Given the description of an element on the screen output the (x, y) to click on. 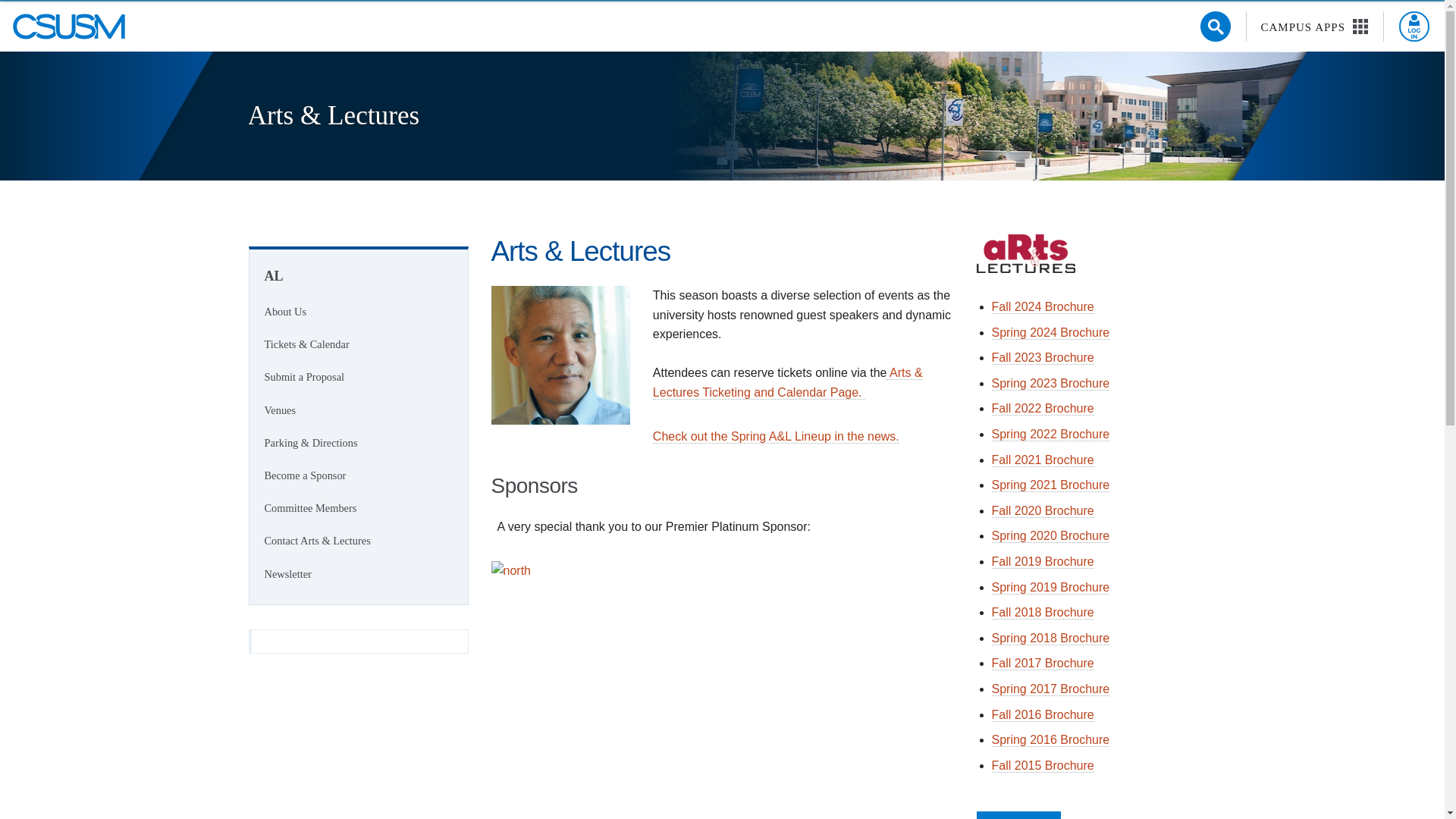
ncity - External website (722, 742)
spring21 (1050, 485)
fall19 (1042, 561)
fall17 (1042, 663)
bro (1050, 689)
tix (1042, 714)
springbrochure (1050, 535)
north  (722, 690)
brochure (1050, 332)
fall brochure (1042, 357)
